Given the description of an element on the screen output the (x, y) to click on. 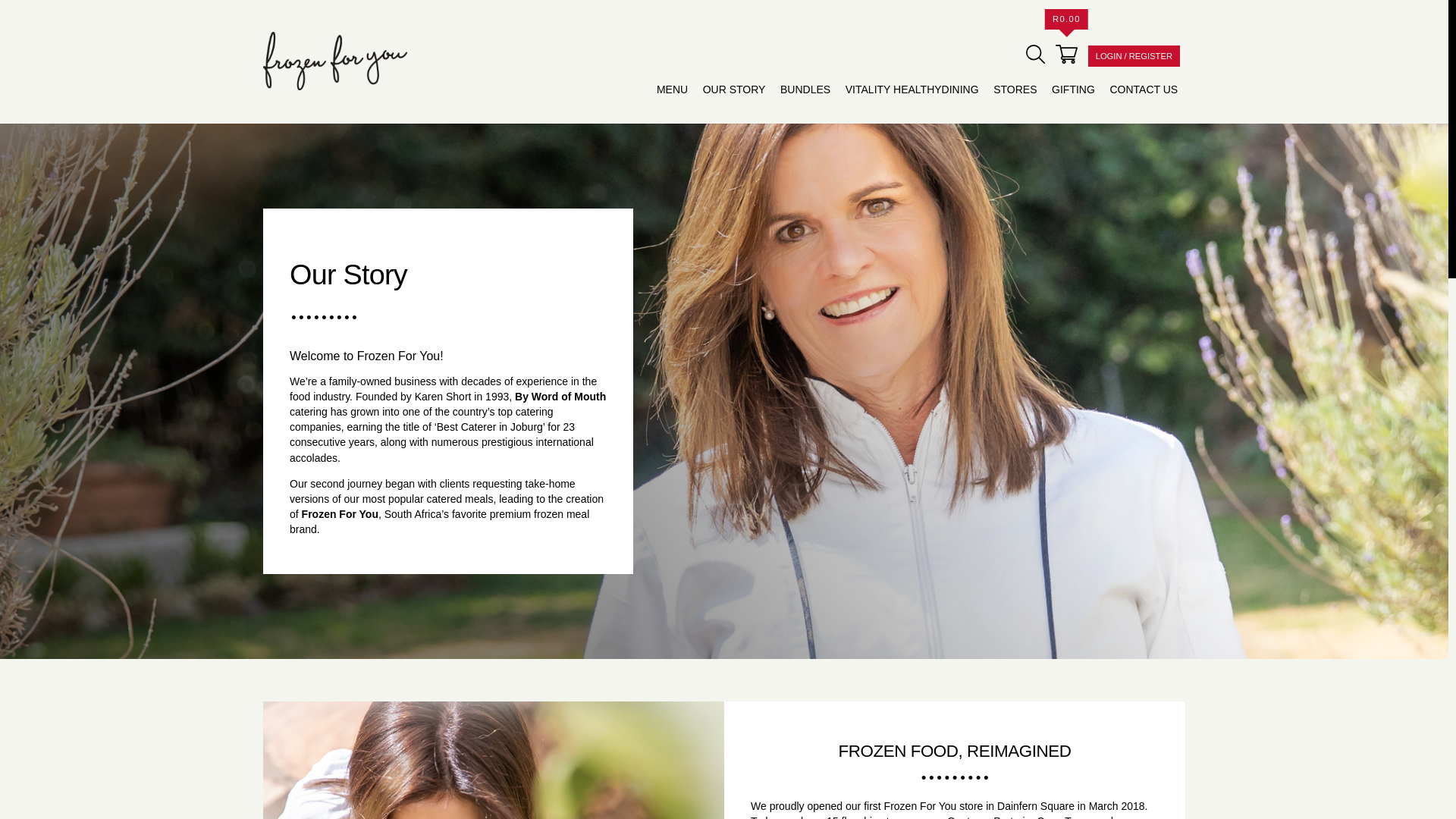
VITALITY HEALTHYDINING (911, 89)
GIFTING (1072, 89)
OUR STORY (734, 89)
Login or Register (1133, 55)
View your cart (1066, 54)
Start seaching for products (1035, 54)
STORES (1014, 89)
BUNDLES (804, 89)
MENU (671, 89)
CONTACT US (1143, 89)
